Given the description of an element on the screen output the (x, y) to click on. 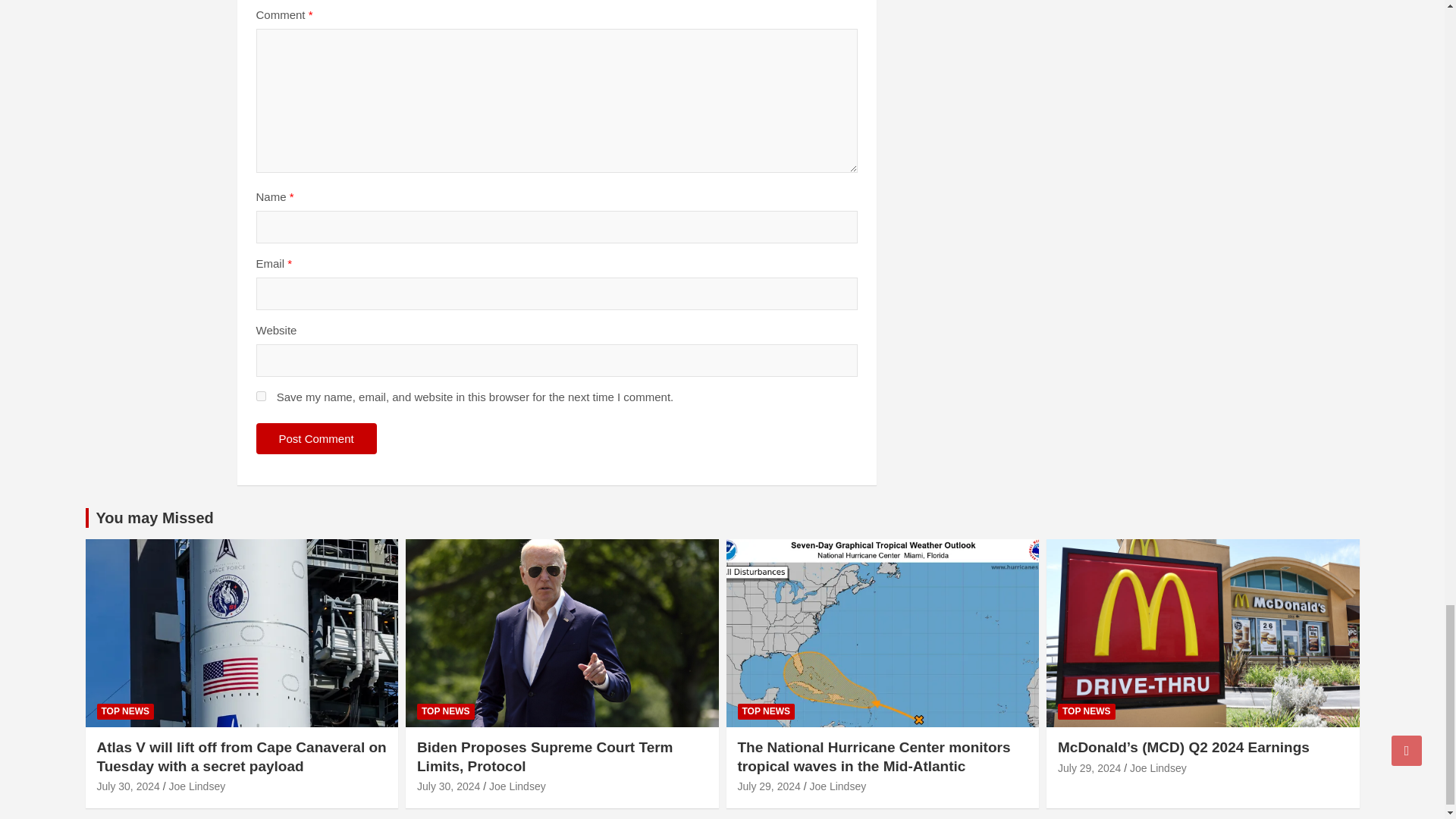
Post Comment (316, 438)
Biden Proposes Supreme Court Term Limits, Protocol (448, 786)
TOP NEWS (125, 711)
yes (261, 396)
Post Comment (316, 438)
